Given the description of an element on the screen output the (x, y) to click on. 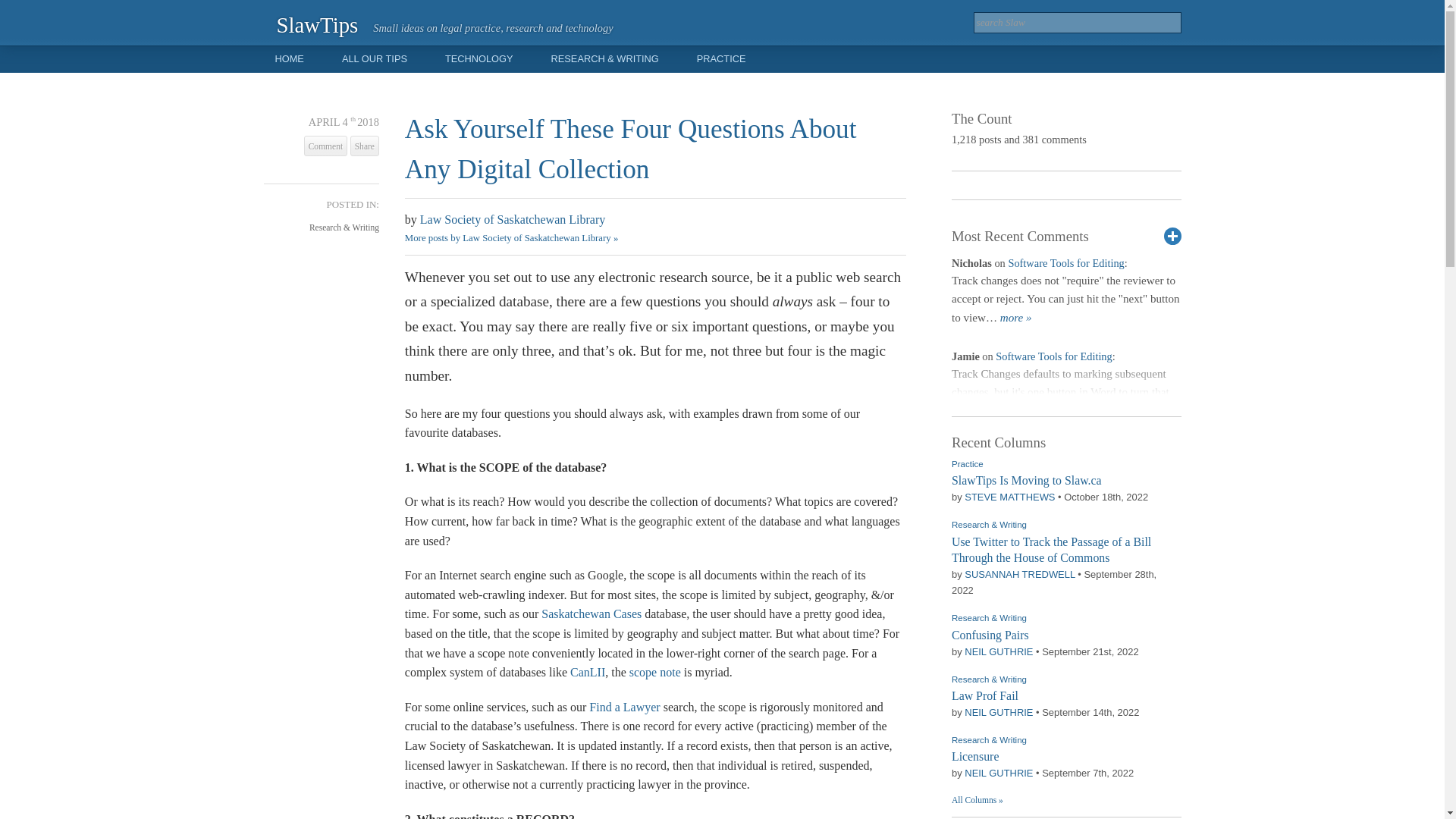
SlawTips (317, 23)
Comment (325, 146)
PRACTICE (721, 58)
Software Tools for Editing (1065, 263)
TECHNOLOGY (479, 58)
HOME (288, 58)
Posts by Neil Guthrie (997, 651)
Law Society of Saskatchewan Library (512, 219)
Posts by Neil Guthrie (997, 772)
Find a Lawyer (624, 707)
Posts by Steve Matthews (1008, 496)
Share (364, 146)
Posts by Law Society of Saskatchewan Library (512, 219)
CanLII (587, 671)
Software Tools for Editing (1053, 356)
